Given the description of an element on the screen output the (x, y) to click on. 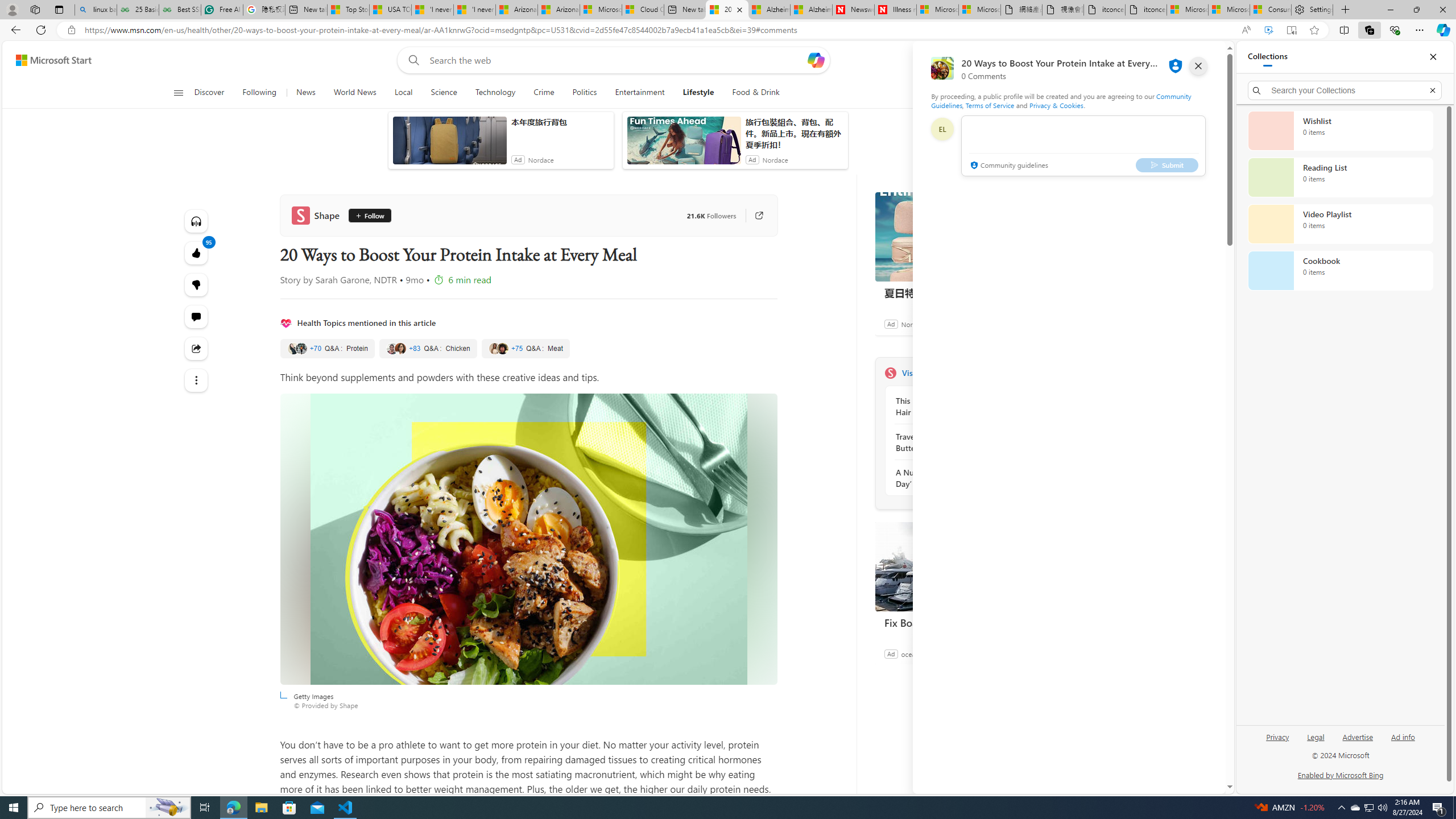
Visit Shape website (1031, 372)
linux basic - Search (95, 9)
Search your Collections (1345, 90)
Privacy & Cookies (1056, 104)
Reading List collection, 0 items (1339, 177)
Community Guidelines (1060, 100)
